Given the description of an element on the screen output the (x, y) to click on. 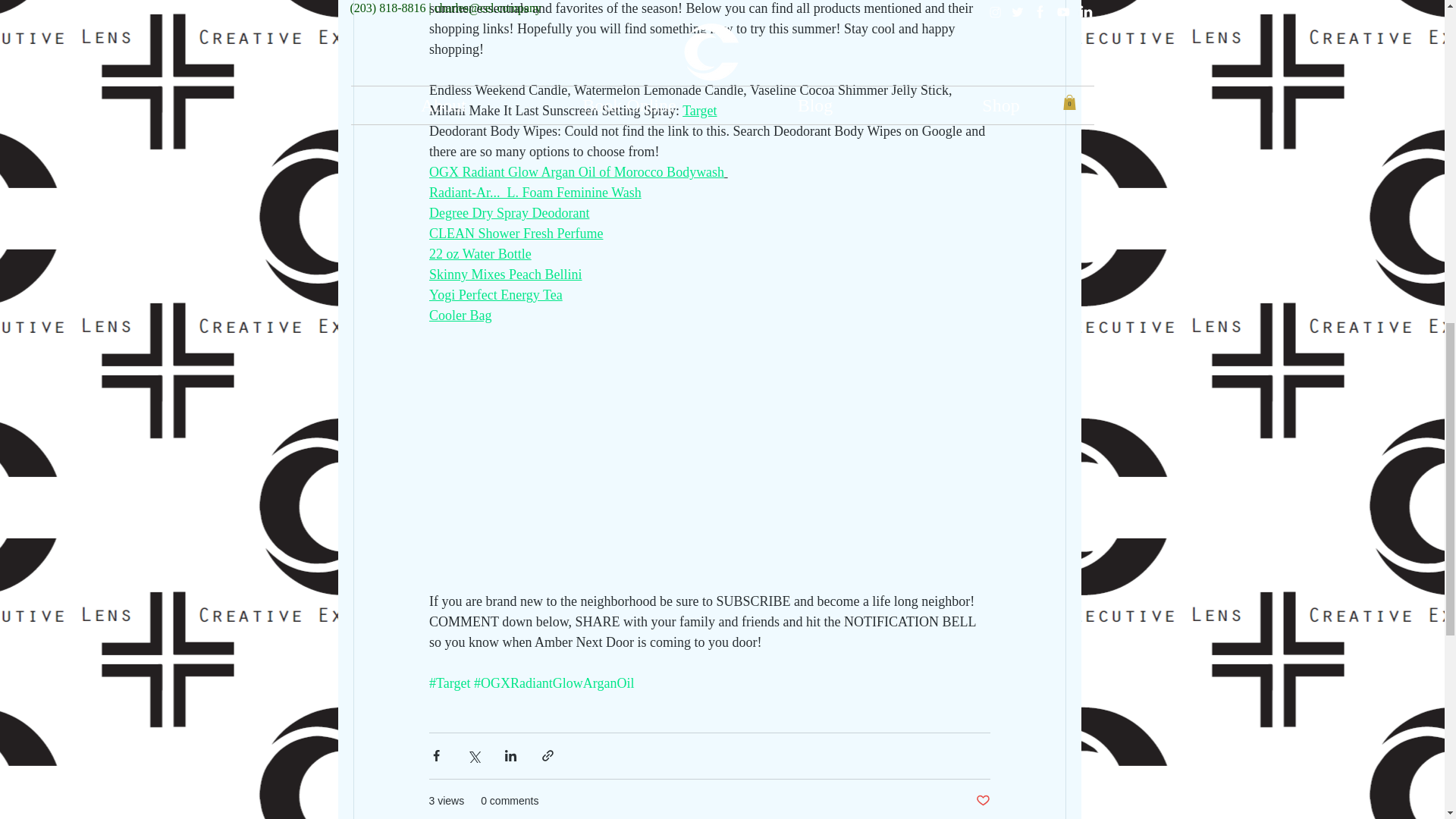
Radiant-Ar...  L. Foam Feminine Wash (535, 192)
CLEAN Shower Fresh Perfume (515, 233)
Target (699, 111)
22 oz Water Bottle (480, 254)
Yogi Perfect Energy Tea (495, 295)
OGX Radiant Glow Argan Oil of Morocco Bodywash (576, 172)
Degree Dry Spray Deodorant (509, 213)
Post not marked as liked (982, 801)
Cooler Bag (460, 315)
Skinny Mixes Peach Bellini (505, 274)
